Given the description of an element on the screen output the (x, y) to click on. 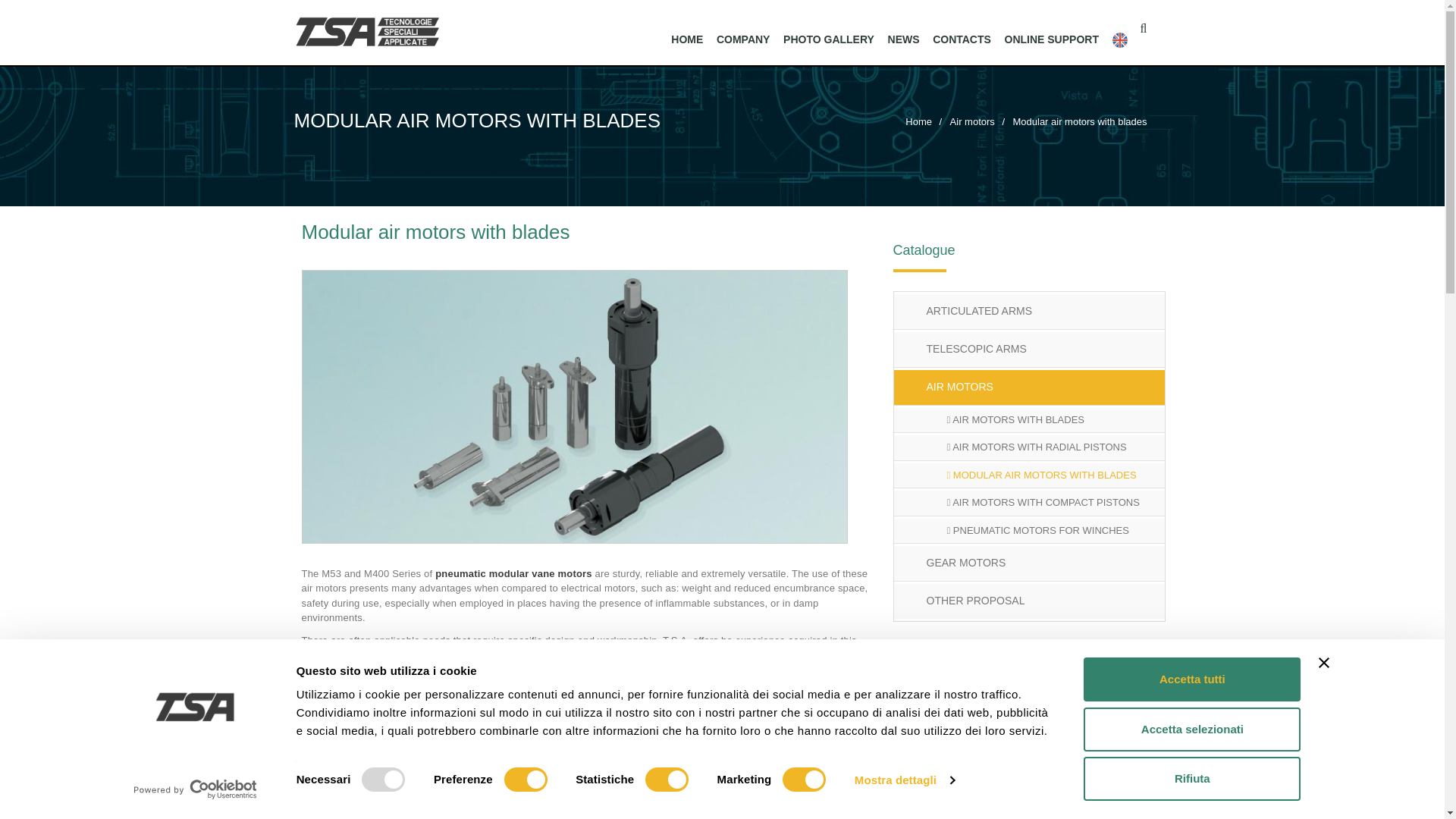
Rifiuta (1191, 778)
HOME (686, 40)
Mostra dettagli (904, 780)
NEWS (903, 40)
Accetta tutti (1191, 679)
COMPANY (743, 40)
ONLINE SUPPORT (1050, 40)
Accetta selezionati (1191, 728)
PHOTO GALLERY (828, 40)
CONTACTS (961, 40)
